Given the description of an element on the screen output the (x, y) to click on. 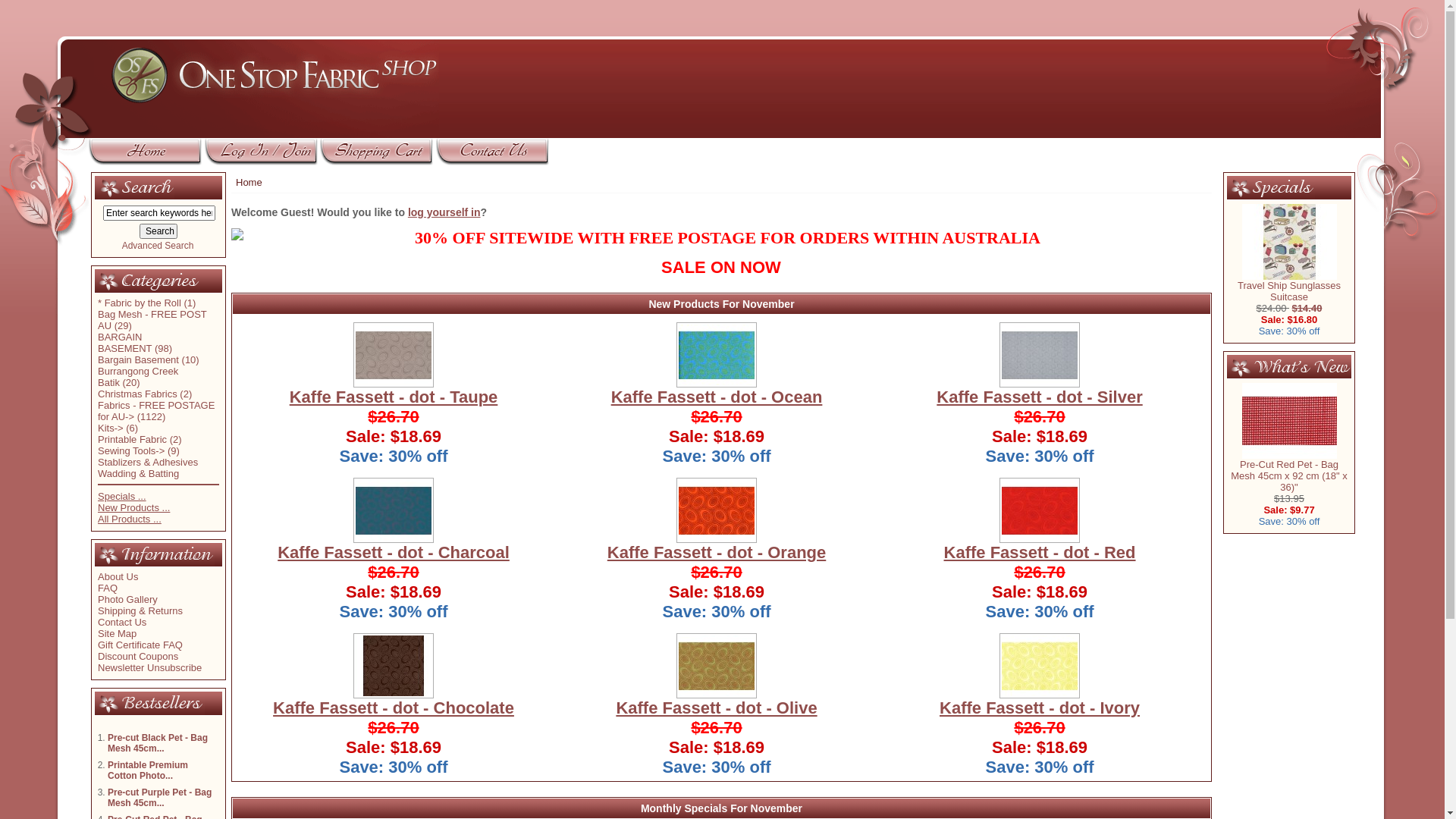
Kits-> Element type: text (110, 427)
 Kaffe Fassett - dot - Olive  Element type: hover (716, 665)
 Kaffe Fassett - dot - Ivory  Element type: hover (1039, 665)
Discount Coupons Element type: text (137, 656)
 Pre-Cut Red Pet - Bag Mesh 45cm x 92 cm (18" x 36)"  Element type: hover (1289, 420)
 Search  Element type: hover (135, 187)
Kaffe Fassett - dot - Taupe Element type: text (393, 396)
Burrangong Creek Batik Element type: text (137, 376)
BARGAIN BASEMENT Element type: text (124, 342)
Pre-cut Black Pet - Bag Mesh 45cm... Element type: text (157, 742)
All Products ... Element type: text (129, 518)
 Kaffe Fassett - dot - Orange  Element type: hover (716, 509)
Search Element type: text (158, 230)
Pre-cut Purple Pet - Bag Mesh 45cm... Element type: text (159, 797)
* Fabric by the Roll Element type: text (139, 302)
log yourself in Element type: text (443, 212)
Printable Fabric Element type: text (131, 439)
Gift Certificate FAQ Element type: text (139, 643)
Newsletter Unsubscribe Element type: text (149, 666)
Kaffe Fassett - dot - Charcoal Element type: text (393, 551)
Sewing Tools-> Element type: text (130, 450)
Printable Premium Cotton Photo... Element type: text (147, 770)
Kaffe Fassett - dot - Ivory Element type: text (1039, 707)
Kaffe Fassett - dot - Silver Element type: text (1039, 396)
 Kaffe Fassett - dot - Chocolate  Element type: hover (393, 665)
Travel Ship Sunglasses Suitcase Element type: text (1288, 286)
Photo Gallery Element type: text (127, 598)
Kaffe Fassett - dot - Olive Element type: text (715, 707)
Wadding & Batting Element type: text (137, 473)
FAQ Element type: text (107, 587)
Kaffe Fassett - dot - Red Element type: text (1039, 551)
Kaffe Fassett - dot - Chocolate Element type: text (393, 707)
Bargain Basement Element type: text (137, 359)
Stablizers & Adhesives Element type: text (147, 461)
 Travel Ship Sunglasses Suitcase  Element type: hover (1289, 241)
 What's New  Element type: hover (1288, 366)
Christmas Fabrics Element type: text (137, 393)
Kaffe Fassett - dot - Ocean Element type: text (716, 396)
Specials ... Element type: text (121, 495)
Kaffe Fassett - dot - Orange Element type: text (716, 551)
About Us Element type: text (117, 575)
Advanced Search Element type: text (158, 245)
Bag Mesh - FREE POST AU Element type: text (152, 319)
New Products ... Element type: text (133, 507)
 Spcials  Element type: hover (1270, 187)
 Categories  Element type: hover (147, 280)
Shipping & Returns Element type: text (139, 610)
Site Map Element type: text (116, 633)
Pre-Cut Red Pet - Bag Mesh 45cm x 92 cm (18" x 36)" Element type: text (1288, 470)
 Kaffe Fassett - dot - Taupe  Element type: hover (393, 354)
 Kaffe Fassett - dot - Ocean  Element type: hover (716, 354)
 Kaffe Fassett - dot - Charcoal  Element type: hover (393, 509)
 Information  Element type: hover (154, 554)
Fabrics - FREE POSTAGE for AU-> Element type: text (155, 410)
Contact Us Element type: text (121, 621)
 Kaffe Fassett - dot - Silver  Element type: hover (1039, 354)
 Best Sellers  Element type: hover (149, 703)
 Kaffe Fassett - dot - Red  Element type: hover (1039, 509)
